Given the description of an element on the screen output the (x, y) to click on. 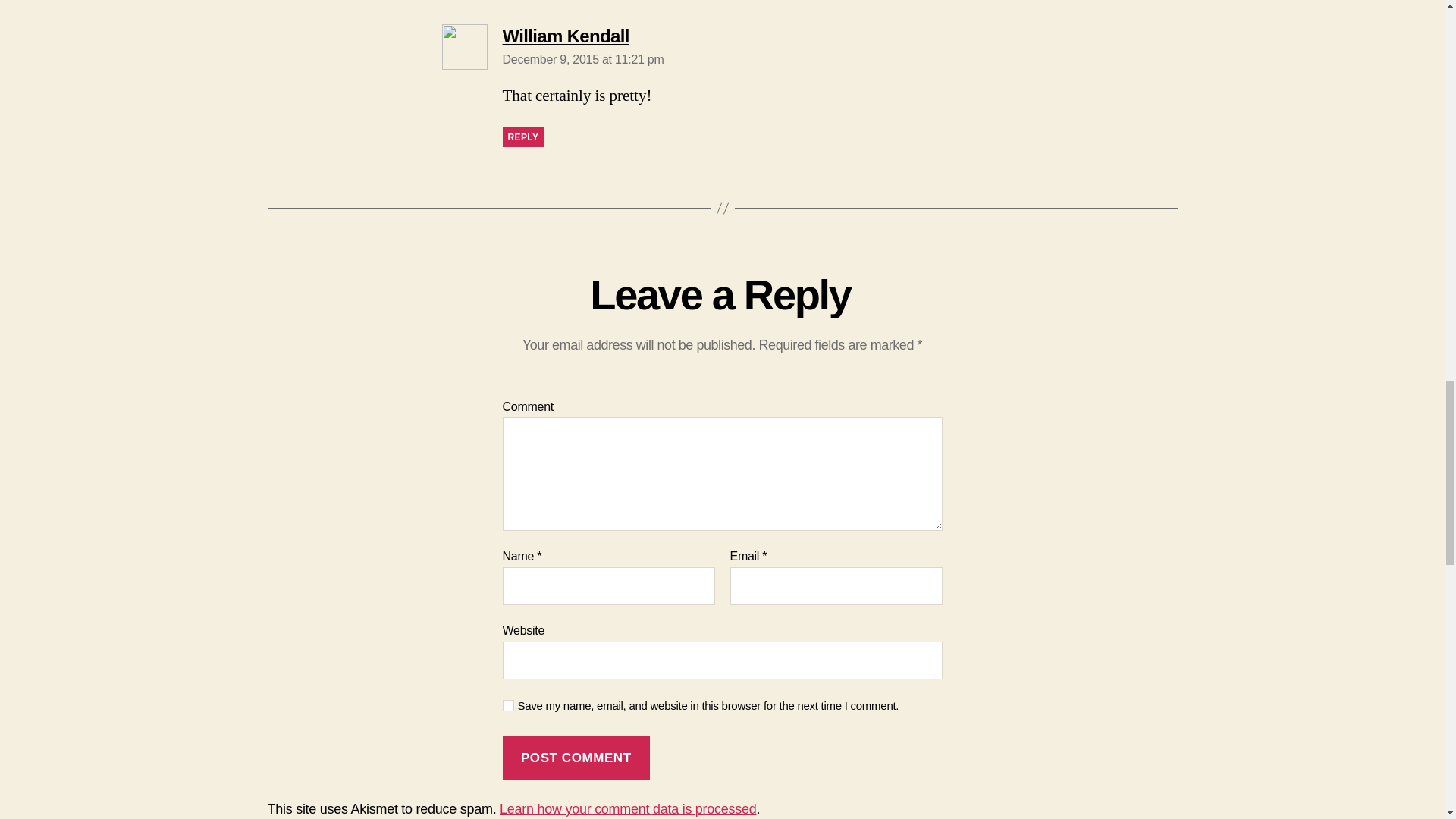
December 9, 2015 at 11:21 pm (582, 59)
REPLY (522, 137)
Learn how your comment data is processed (627, 808)
REPLY (565, 35)
December 9, 2015 at 11:21 pm (522, 137)
Post Comment (582, 59)
Post Comment (575, 757)
yes (575, 757)
